Given the description of an element on the screen output the (x, y) to click on. 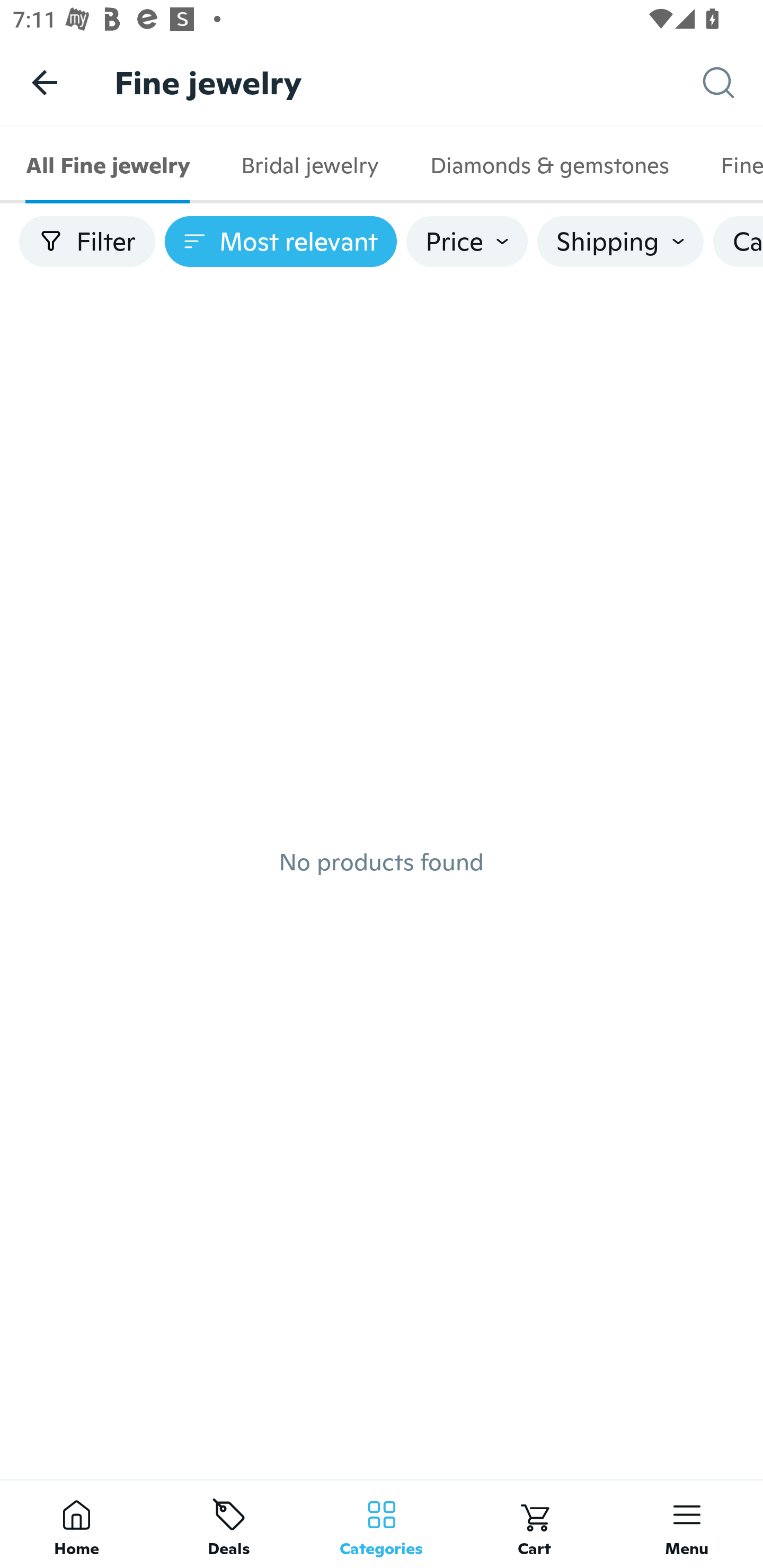
Navigate up (44, 82)
Search (732, 82)
All Fine jewelry (107, 165)
Bridal jewelry (309, 165)
Diamonds & gemstones (549, 165)
Filter (86, 241)
Most relevant (280, 241)
Price (466, 241)
Shipping (620, 241)
Home (76, 1523)
Deals (228, 1523)
Categories (381, 1523)
Cart (533, 1523)
Menu (686, 1523)
